Given the description of an element on the screen output the (x, y) to click on. 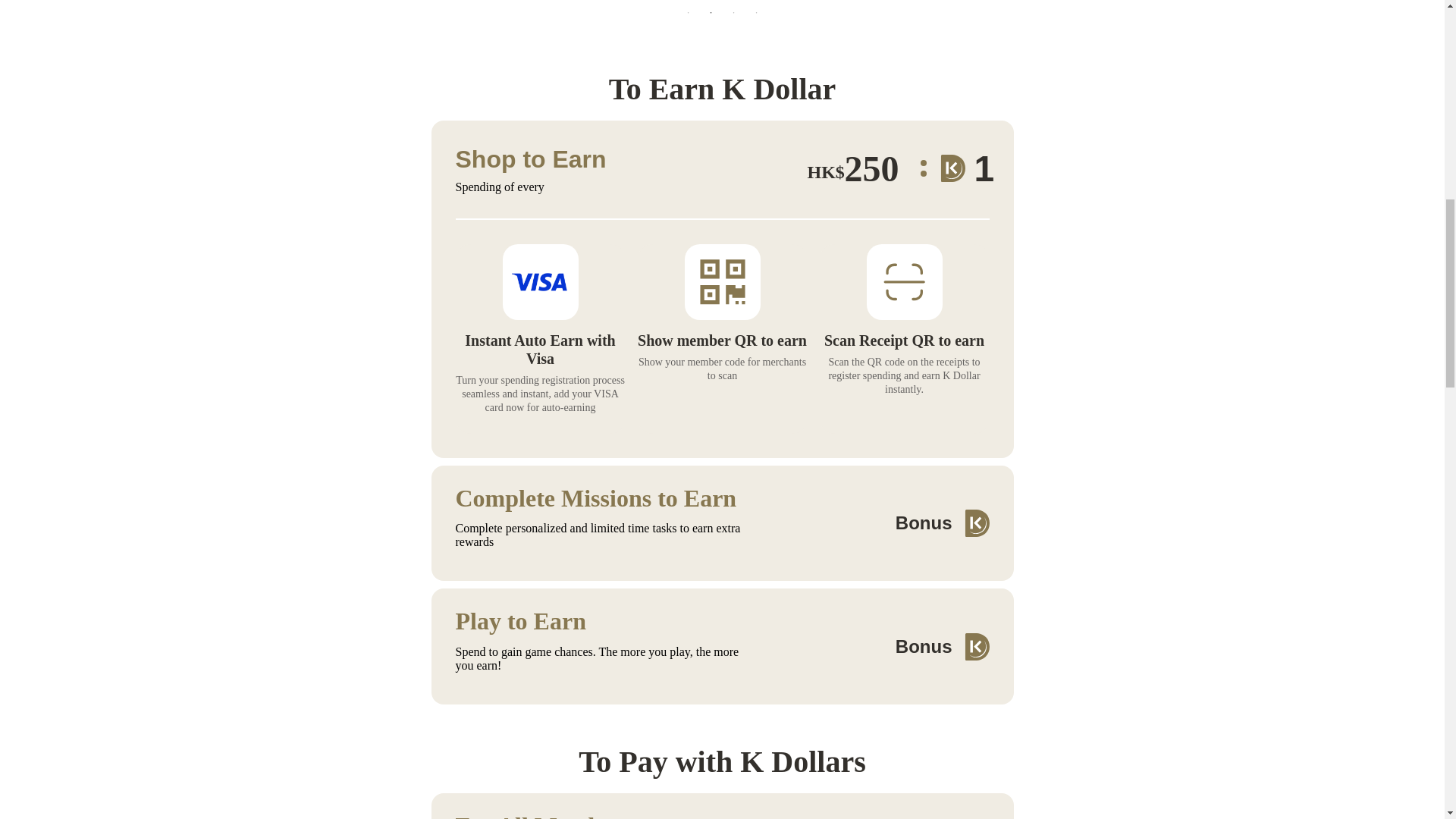
1 (688, 12)
2 (711, 12)
3 (733, 12)
